Given the description of an element on the screen output the (x, y) to click on. 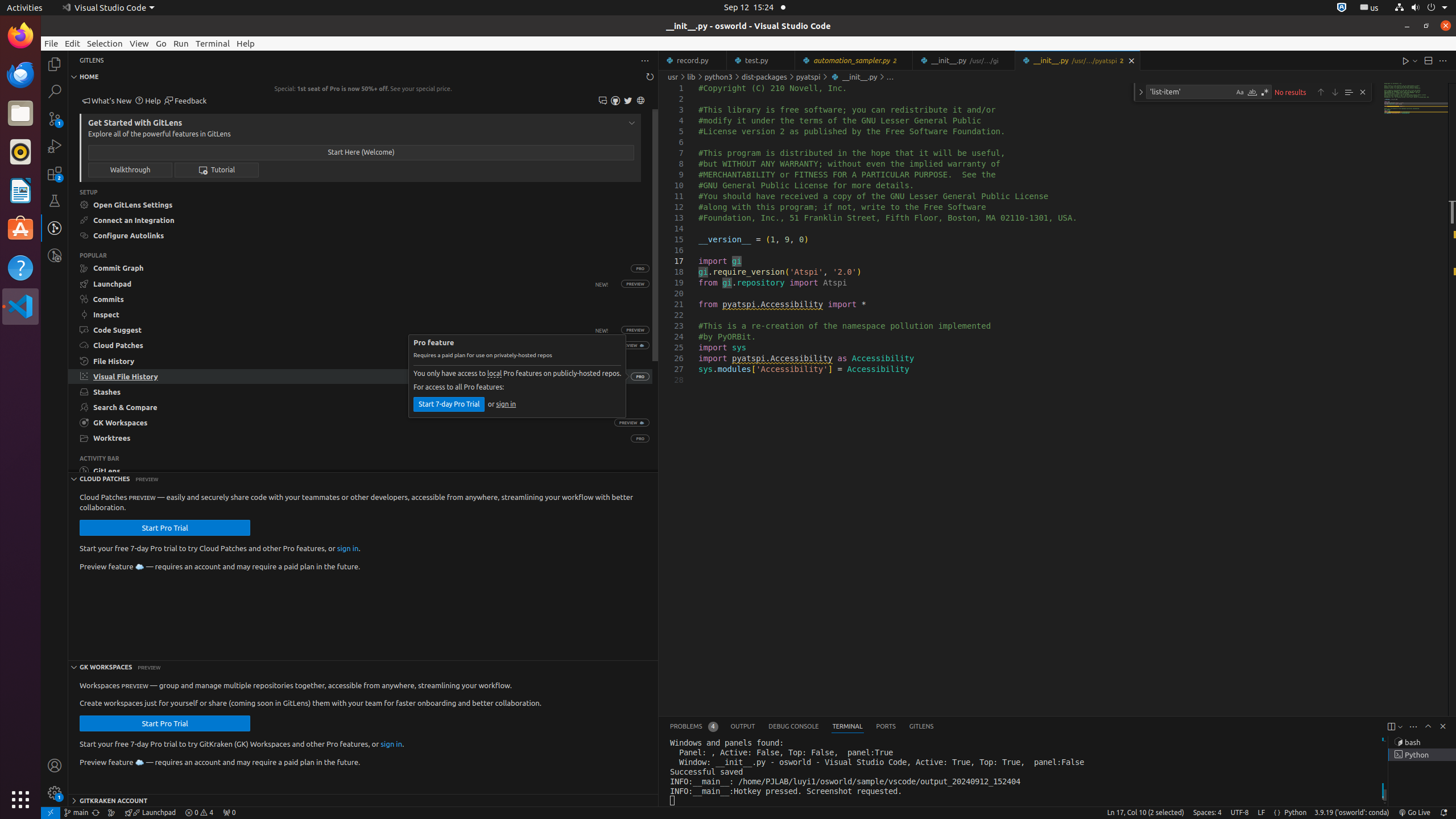
Cloud Patches Section Element type: push-button (363, 478)
What's New Element type: link (106, 100)
Show Worktrees view Element type: link (348, 437)
Active View Switcher Element type: page-tab-list (801, 726)
